Given the description of an element on the screen output the (x, y) to click on. 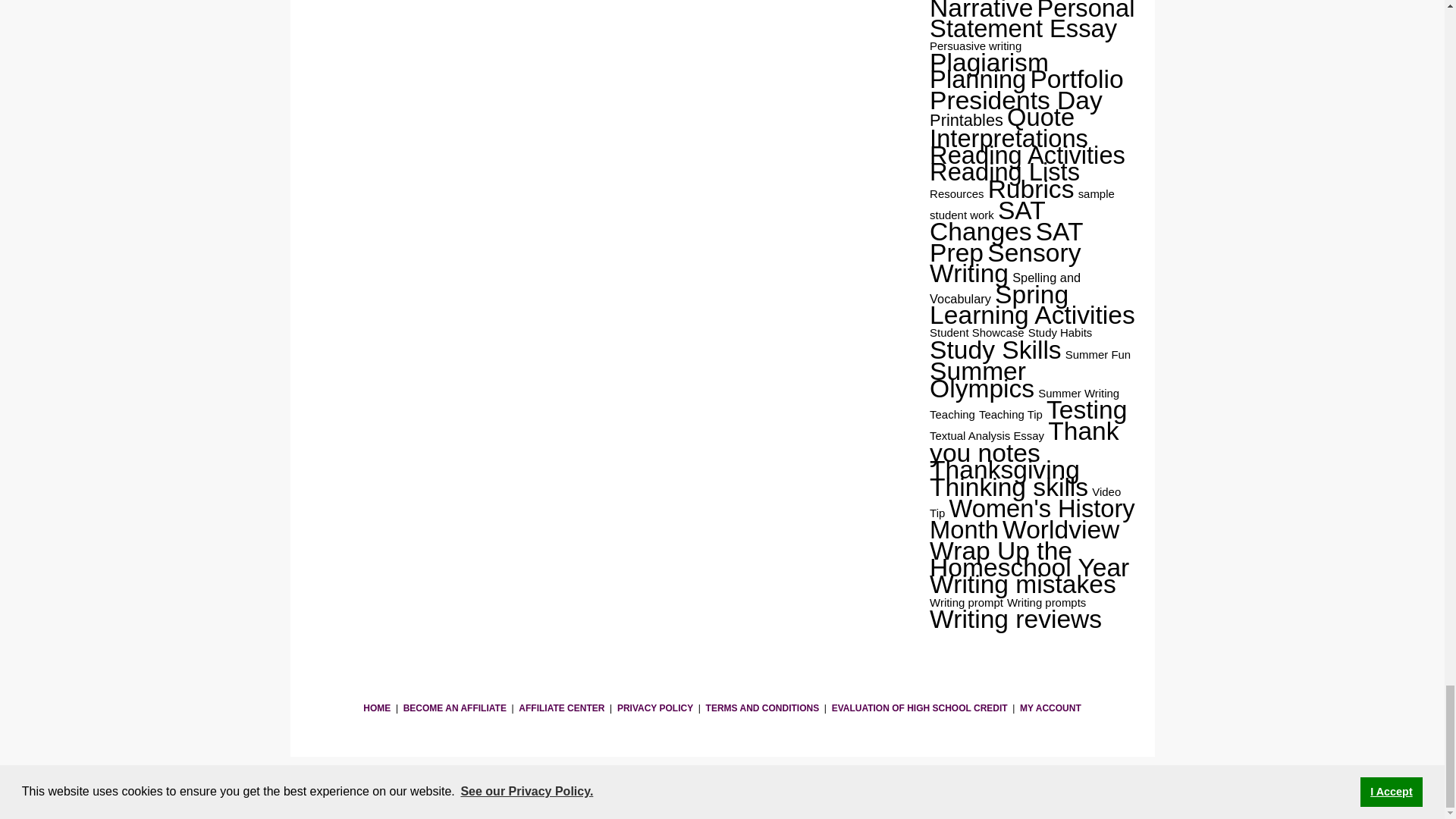
BECOME AN AFFILIATE (454, 707)
HOME (376, 707)
